Given the description of an element on the screen output the (x, y) to click on. 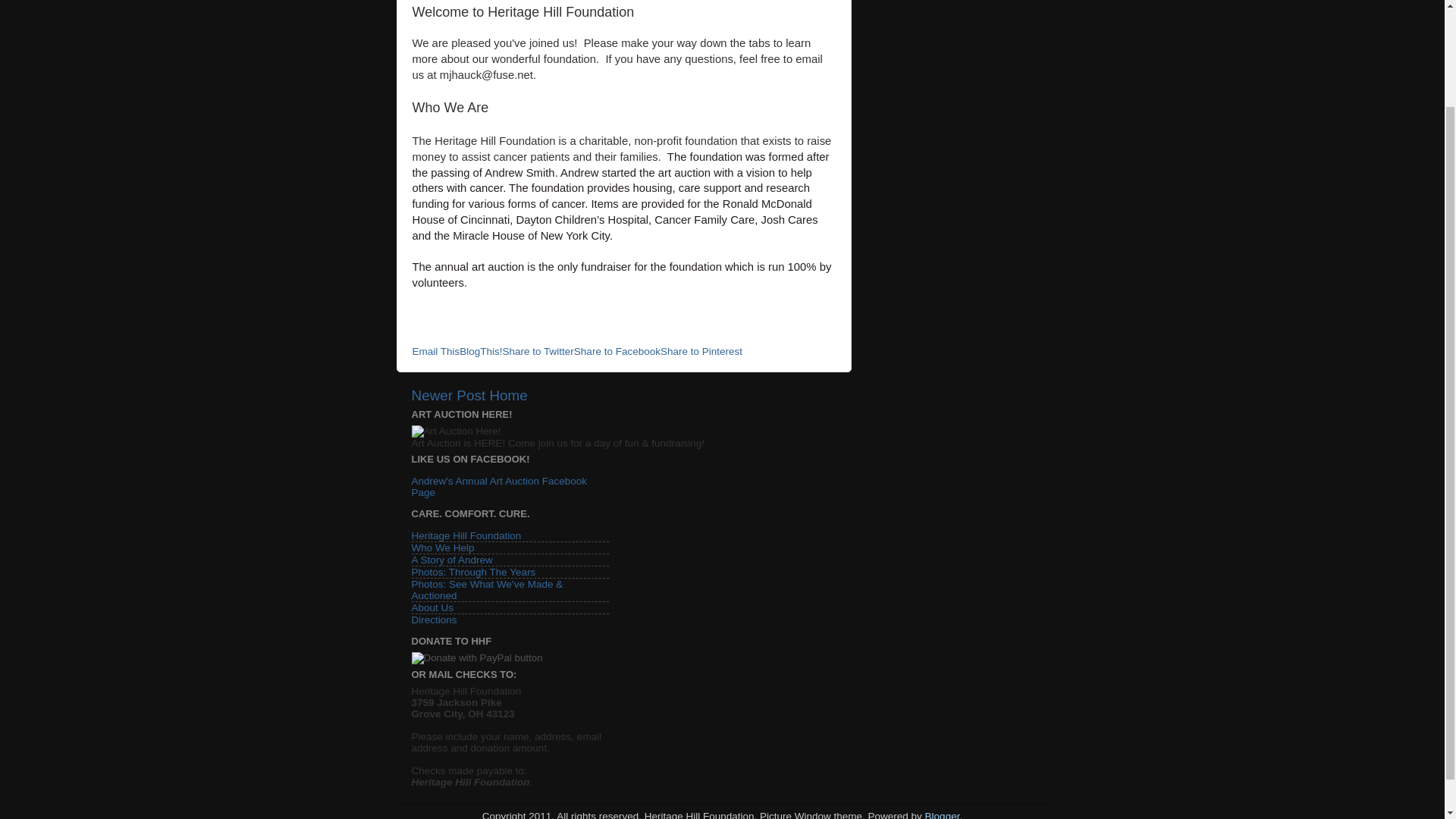
Heritage Hill Foundation (465, 535)
Share to Facebook (617, 351)
Home (508, 395)
BlogThis! (481, 351)
Photos: Through The Years (472, 572)
Directions (433, 619)
Share to Facebook (617, 351)
Share to Twitter (537, 351)
Share to Pinterest (701, 351)
Share to Twitter (537, 351)
